Given the description of an element on the screen output the (x, y) to click on. 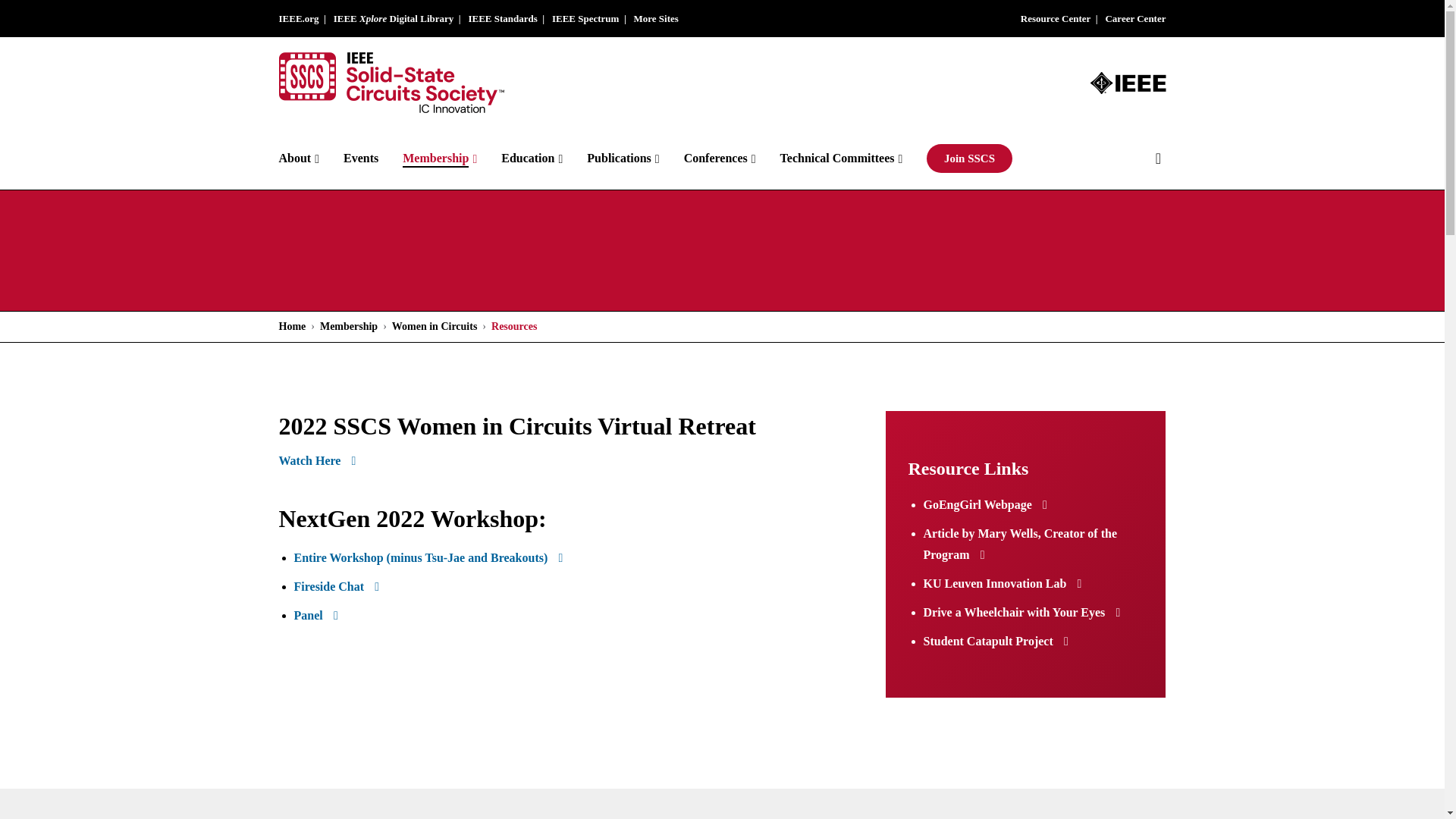
Events (373, 158)
More Sites (655, 18)
Career Center (1135, 18)
Membership (451, 158)
About (311, 158)
IEEE Standards (502, 18)
IEEE Spectrum (584, 18)
Resource Center (1055, 18)
IEEE Xplore Digital Library (393, 18)
IEEE.org (298, 18)
